Given the description of an element on the screen output the (x, y) to click on. 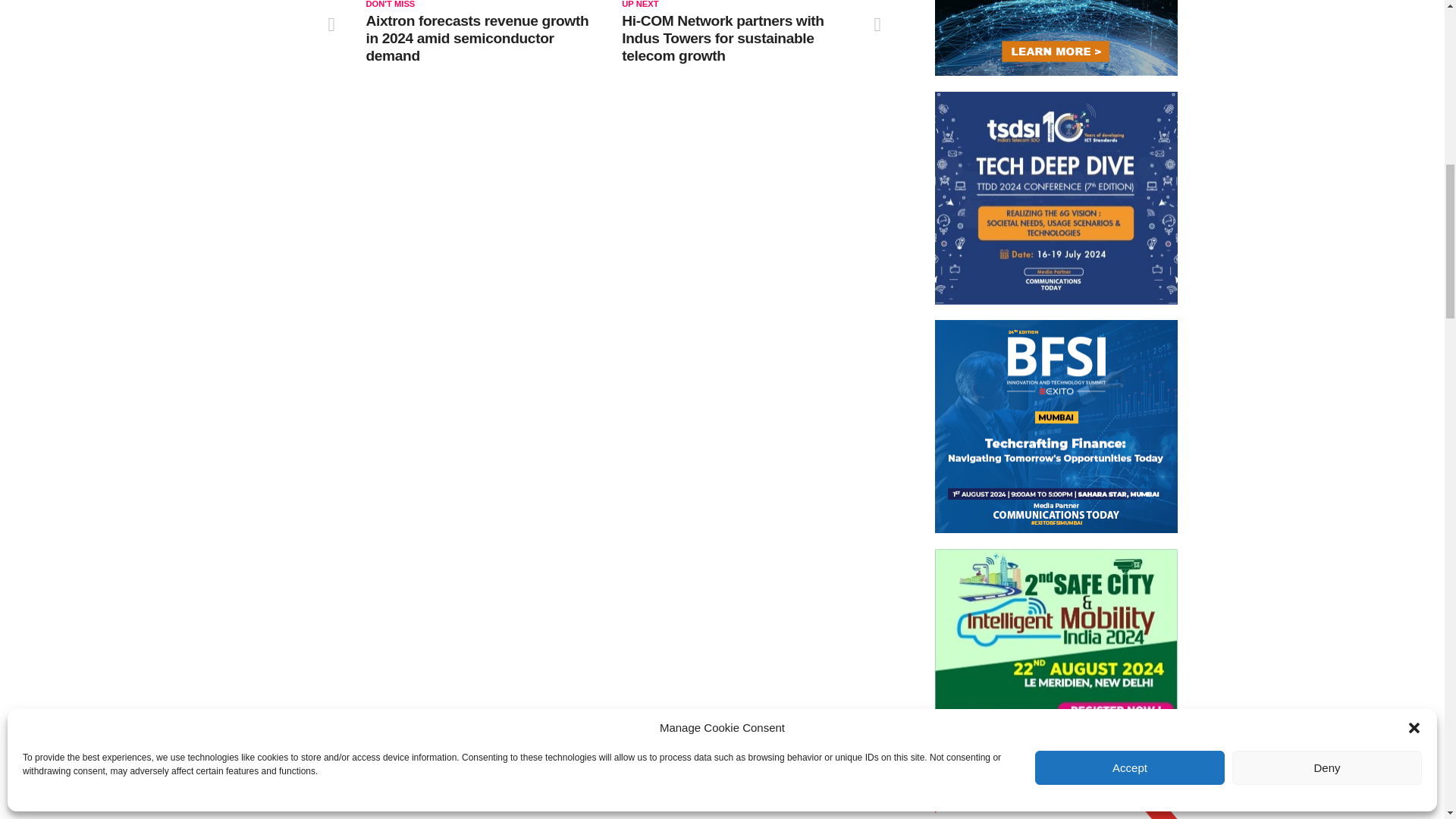
Accept (1129, 358)
Deny (1326, 358)
